Given the description of an element on the screen output the (x, y) to click on. 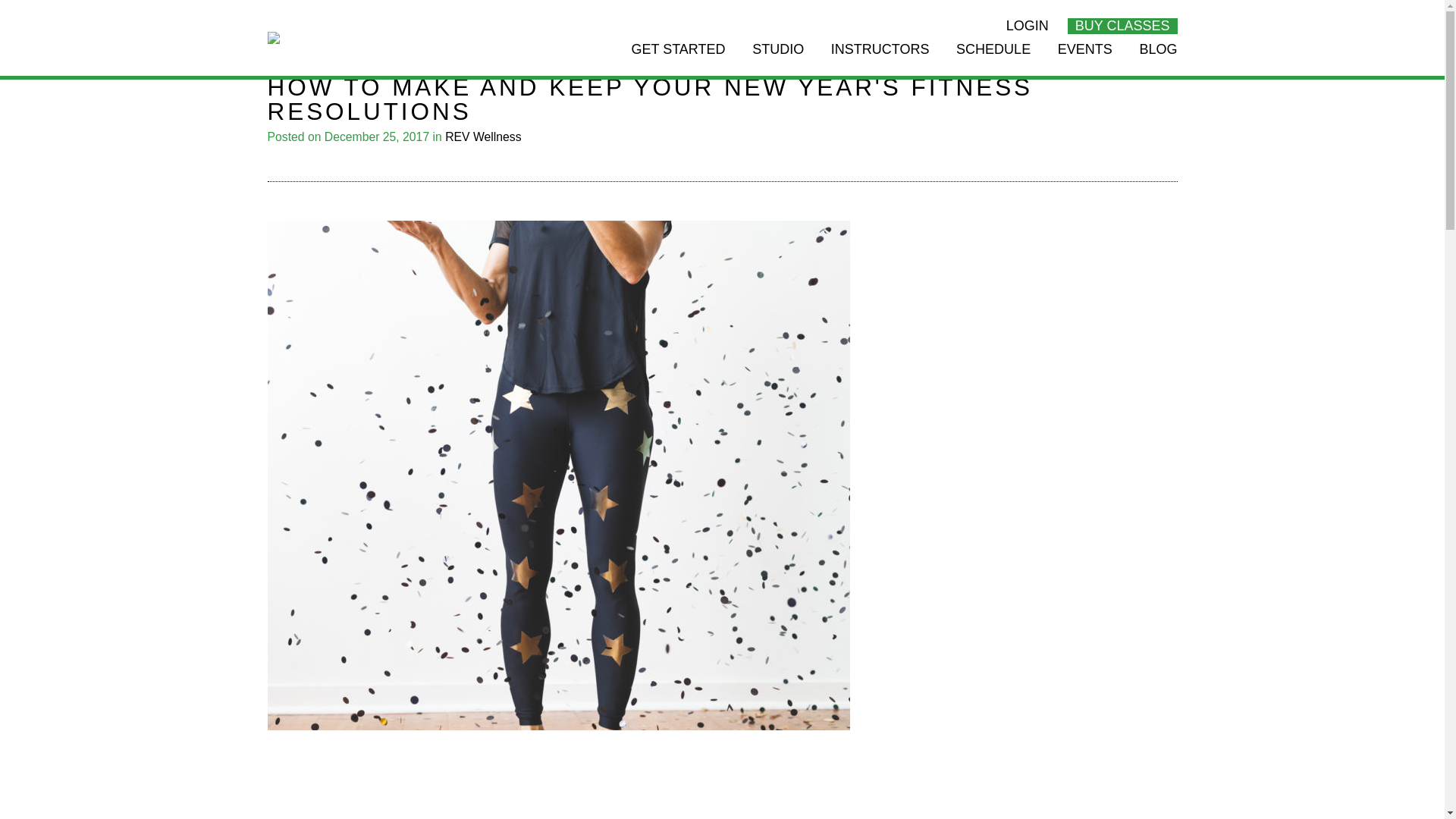
BUY CLASSES (1122, 26)
EVENTS (1085, 58)
INSTRUCTORS (880, 58)
REV Wellness (483, 136)
SCHEDULE (993, 58)
STUDIO (777, 58)
BLOG (1157, 58)
GET STARTED (677, 58)
LOGIN (1027, 26)
